Given the description of an element on the screen output the (x, y) to click on. 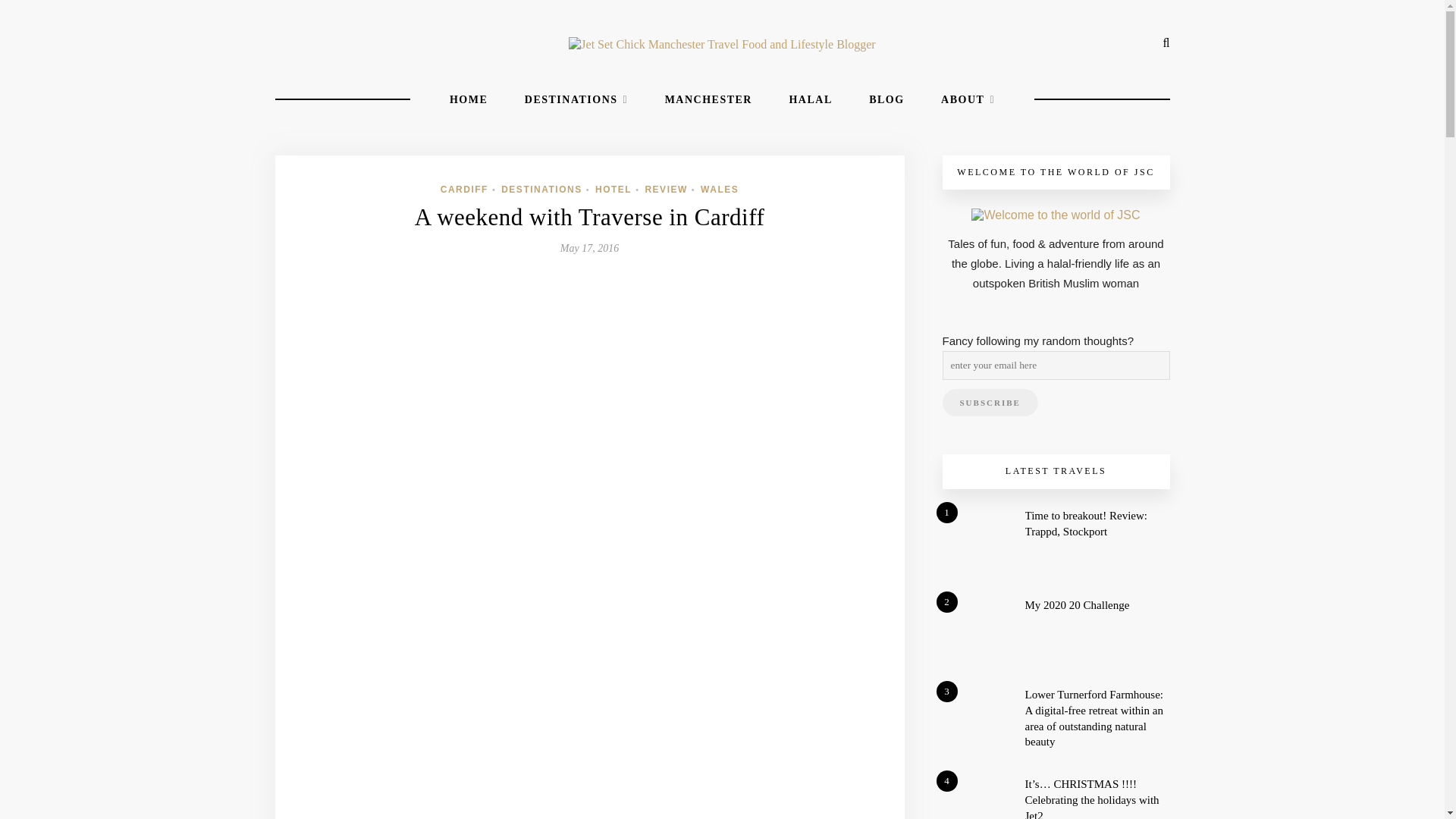
HOME (468, 99)
DESTINATIONS (540, 189)
HOTEL (613, 189)
DESTINATIONS (575, 99)
WALES (719, 189)
Subscribe (989, 402)
CARDIFF (464, 189)
REVIEW (666, 189)
HALAL (810, 99)
ABOUT (967, 99)
